Given the description of an element on the screen output the (x, y) to click on. 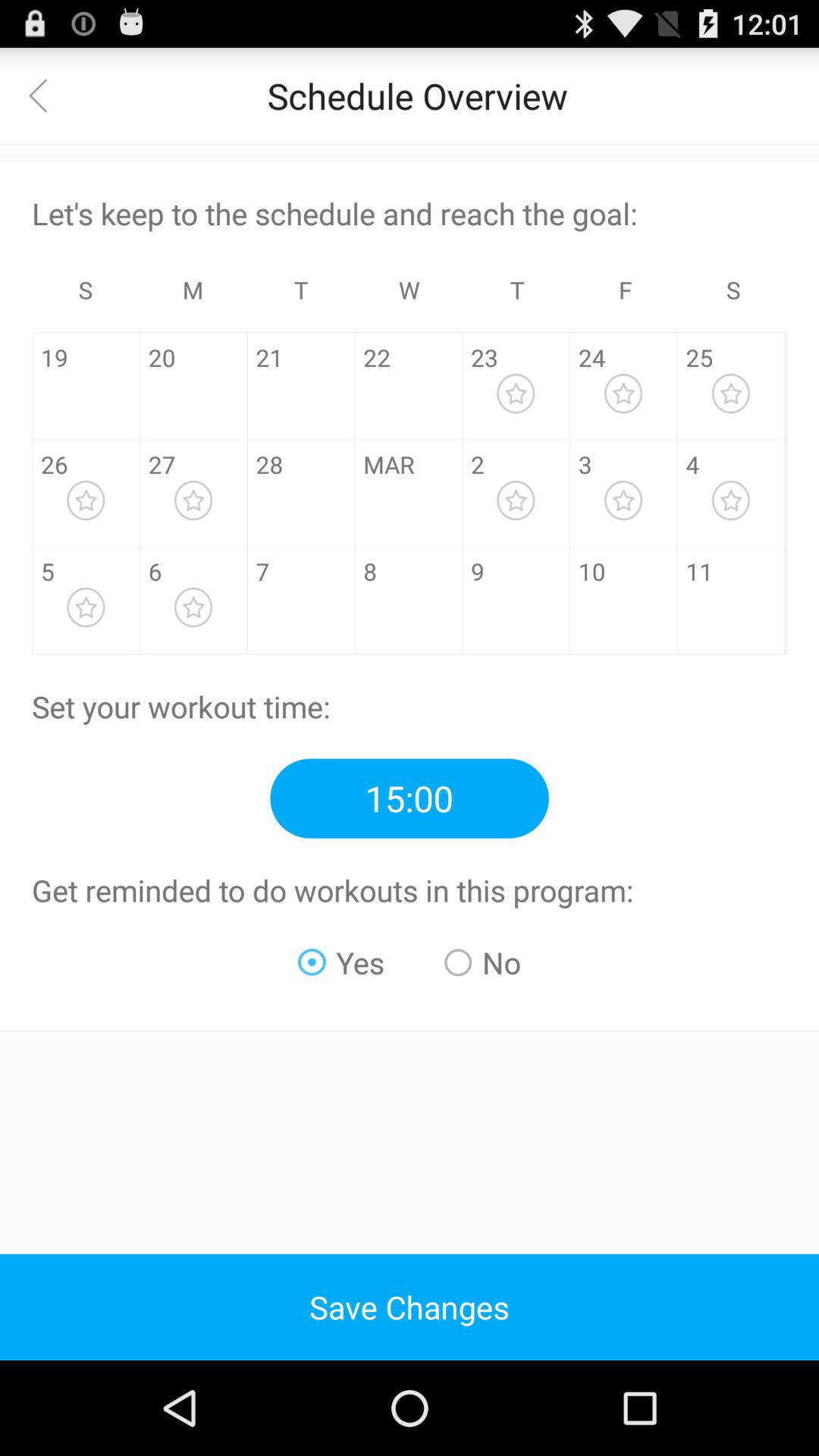
click on the star option to the right of the digit 2 (516, 499)
select the favorites icon which is below the number 23 (516, 393)
select the time 1500 (409, 798)
